Given the description of an element on the screen output the (x, y) to click on. 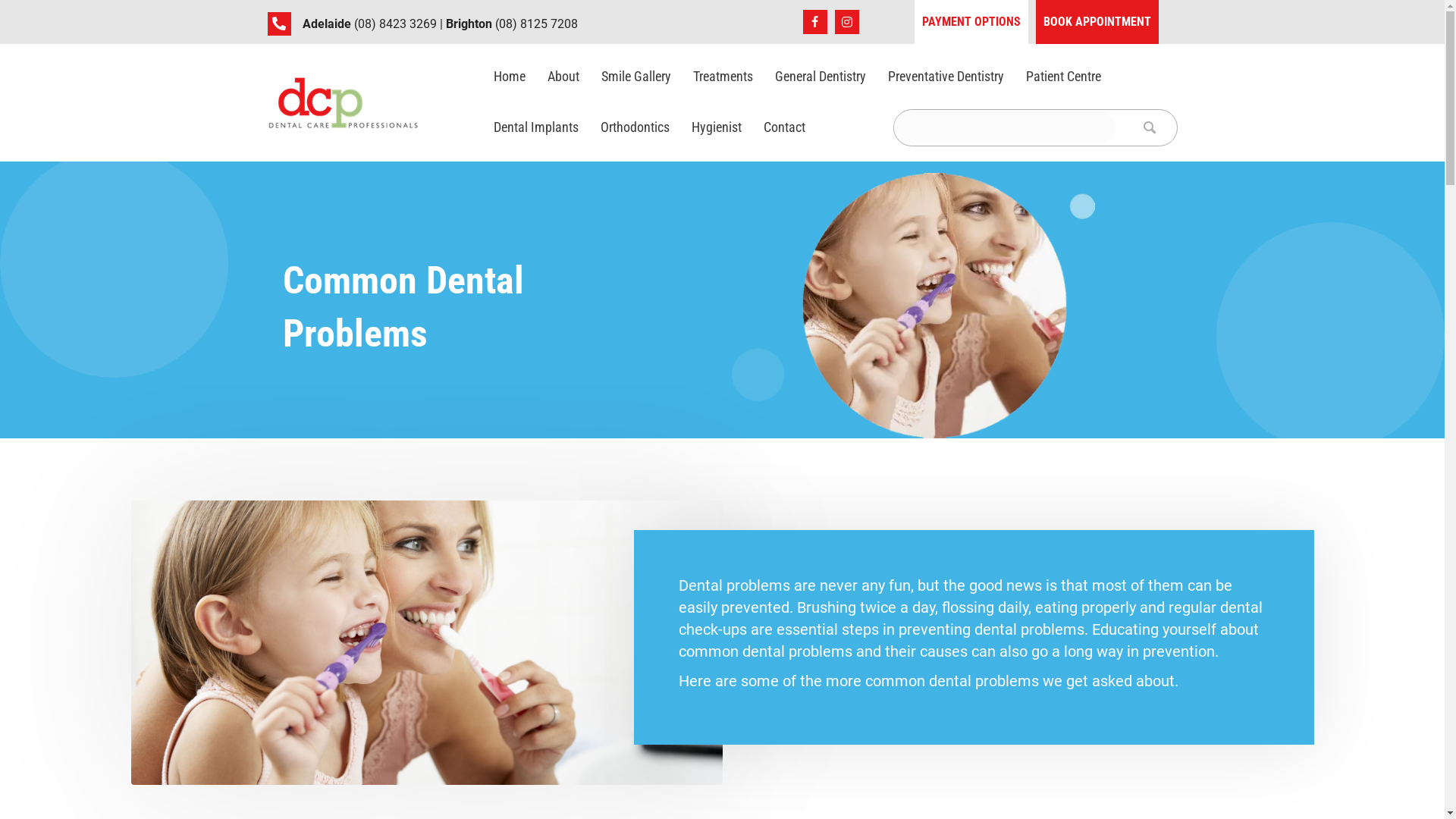
General Dentistry Element type: text (820, 76)
Smile Gallery Element type: text (634, 76)
dental-care-professionals-south-australia_200x69 Element type: hover (342, 102)
(08) 8423 3269 Element type: text (395, 23)
BOOK APPOINTMENT Element type: text (1096, 21)
Home Element type: text (508, 76)
Treatments Element type: text (722, 76)
DCP2 Element type: hover (913, 305)
About Element type: text (562, 76)
Hygienist Element type: text (716, 126)
Orthodontics Element type: text (634, 126)
PAYMENT OPTIONS Element type: text (971, 21)
Patient Centre Element type: text (1062, 76)
Preventative Dentistry Element type: text (944, 76)
Dental Implants Element type: text (535, 126)
Contact Element type: text (783, 126)
(08) 8125 7208 Element type: text (536, 23)
